Given the description of an element on the screen output the (x, y) to click on. 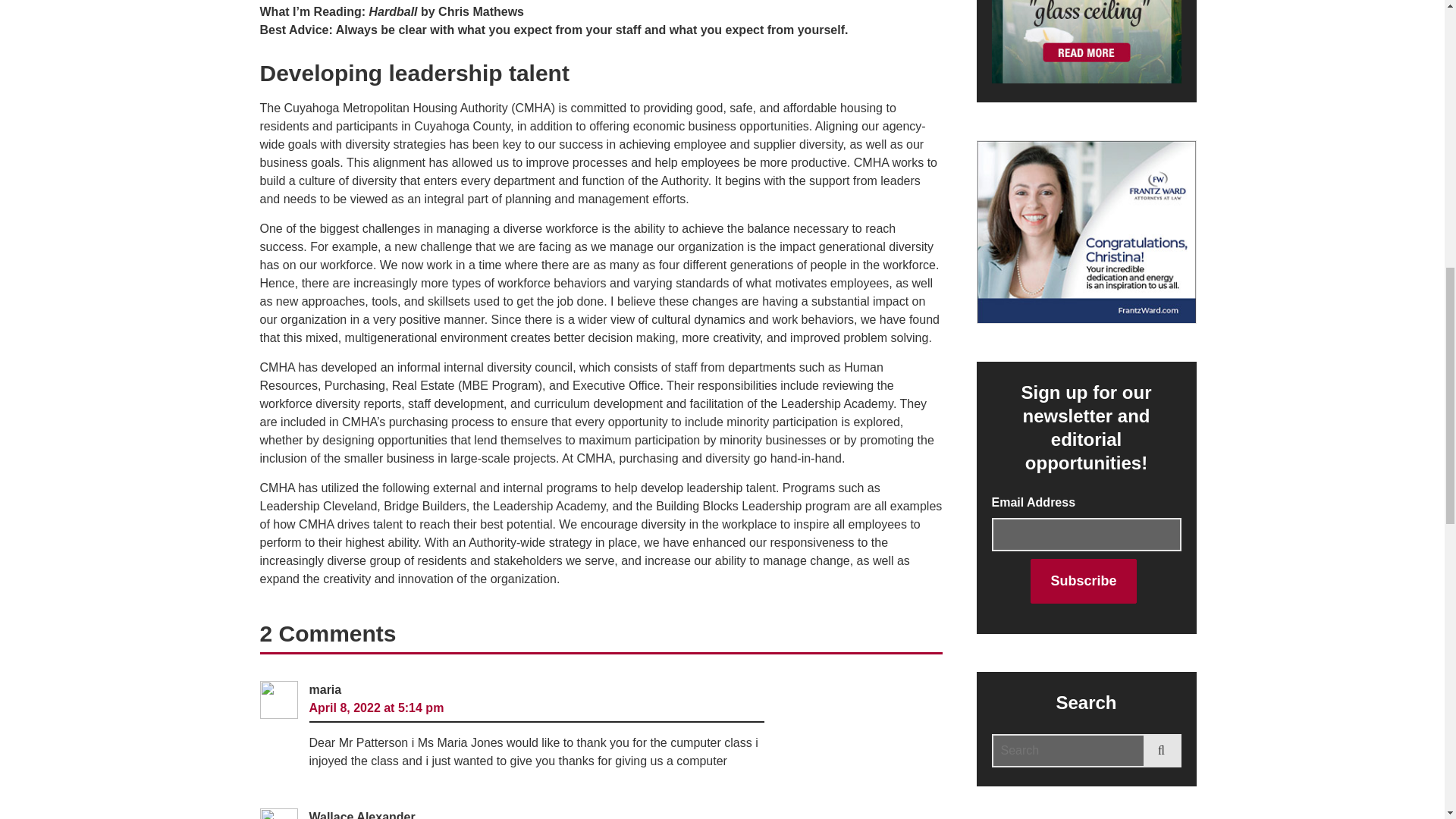
Subscribe (1082, 580)
